Given the description of an element on the screen output the (x, y) to click on. 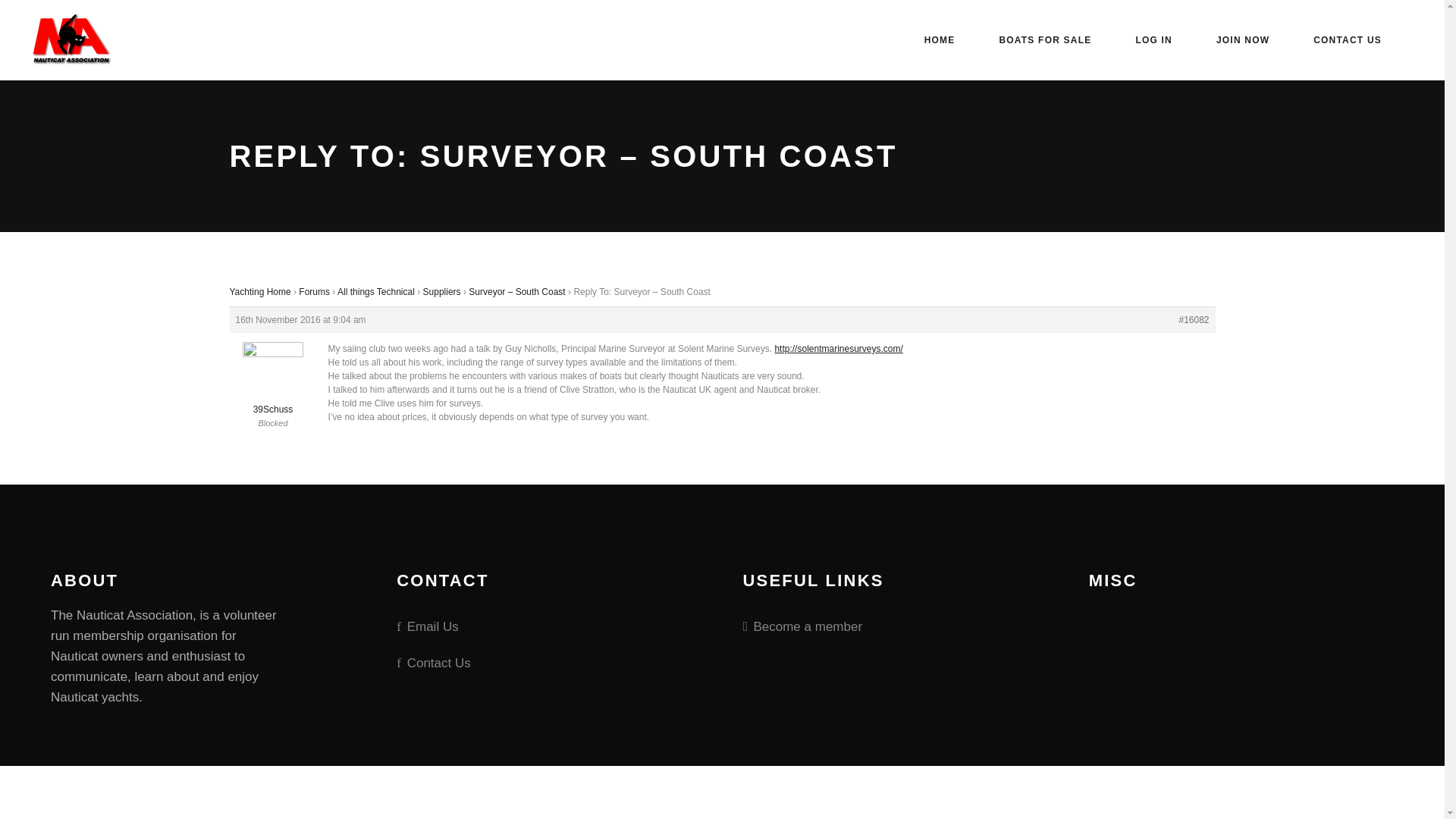
CONTACT US (1340, 40)
Yachting Home (258, 291)
HOME (932, 40)
BOATS FOR SALE (1037, 40)
JOIN NOW (1235, 40)
39Schuss (271, 382)
Become a member (802, 627)
Suppliers (442, 291)
Contact Us (433, 663)
Email Us (427, 627)
